Given the description of an element on the screen output the (x, y) to click on. 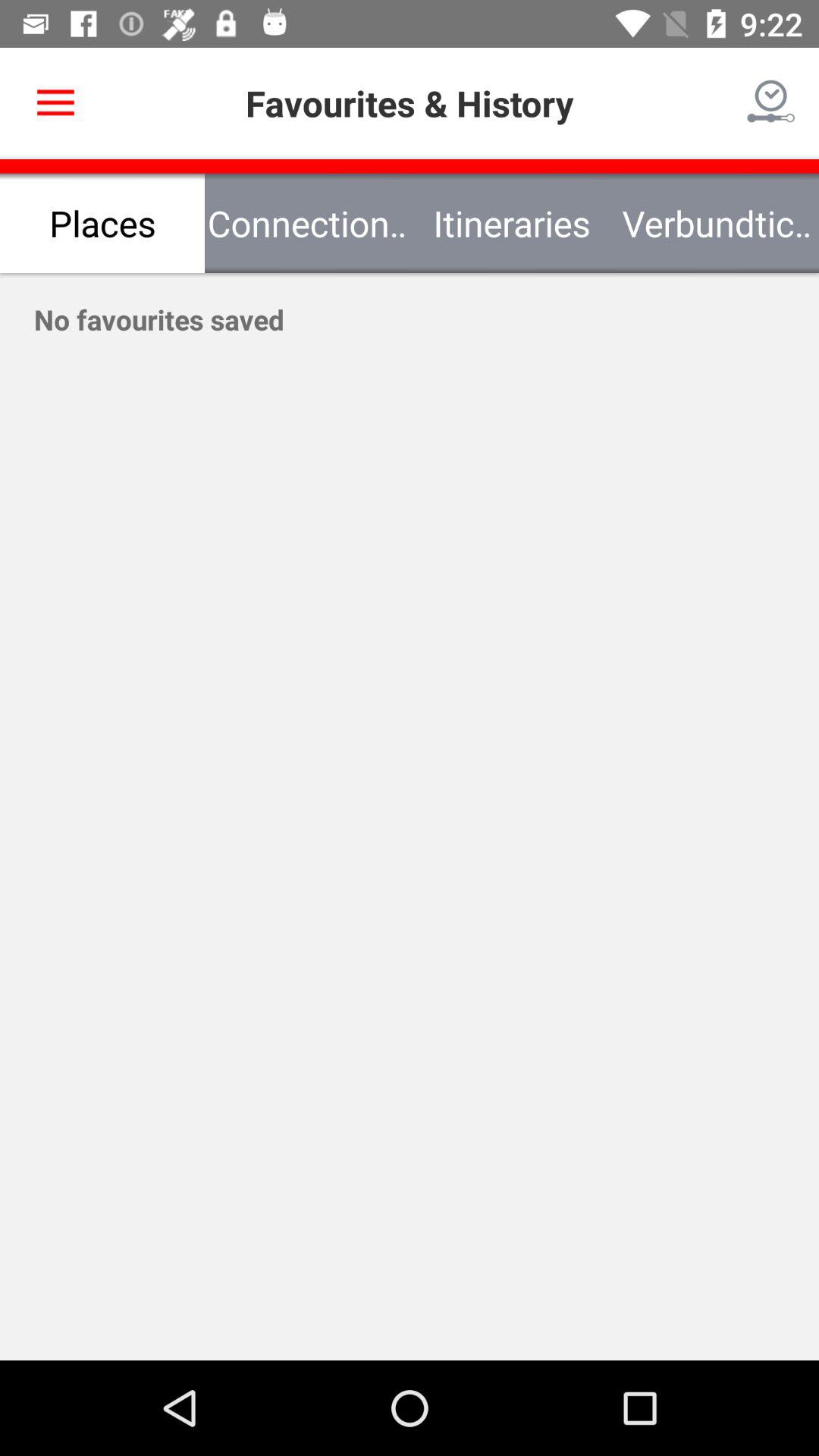
scroll to places (102, 223)
